Given the description of an element on the screen output the (x, y) to click on. 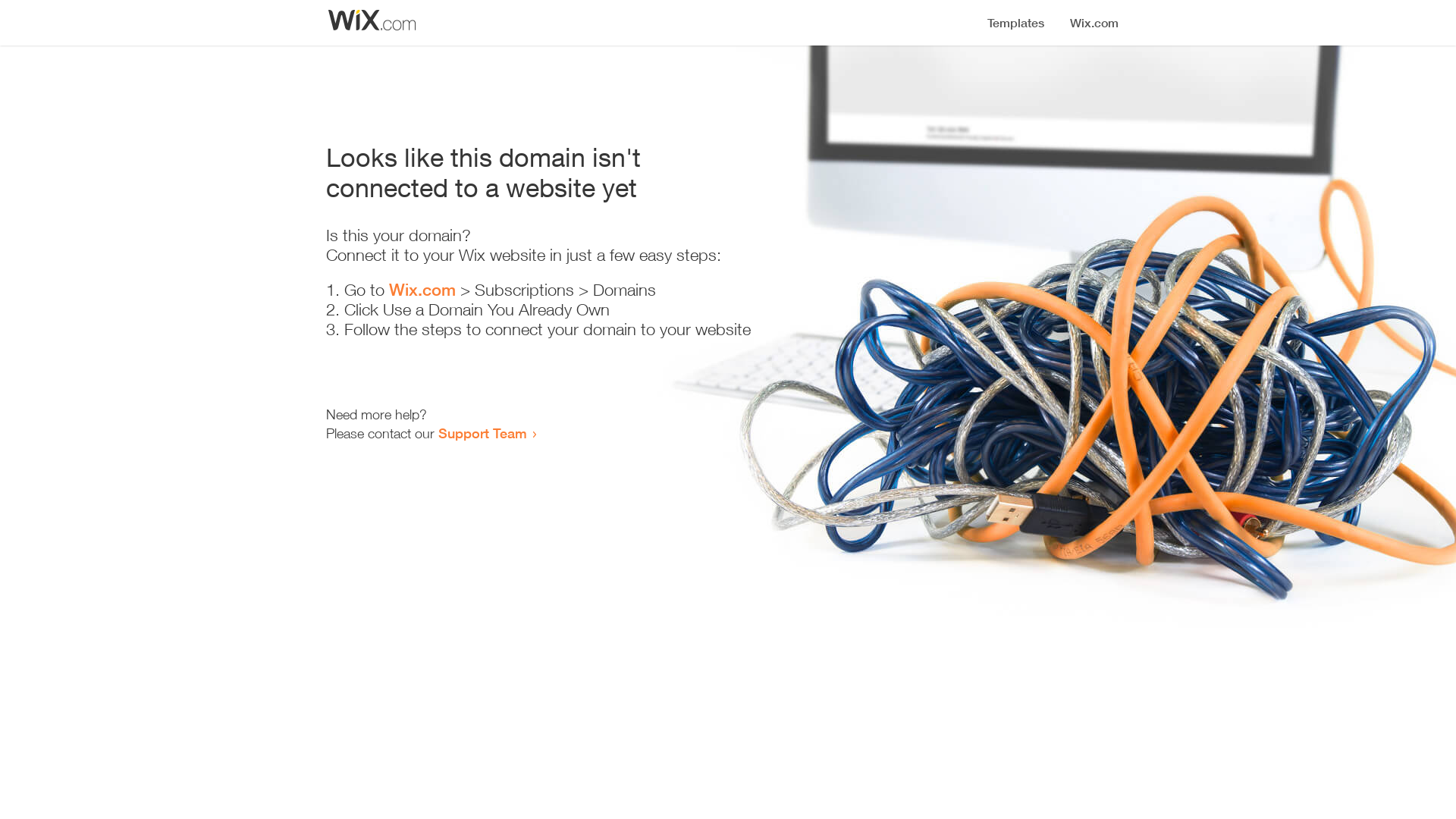
Support Team Element type: text (482, 432)
Wix.com Element type: text (422, 289)
